Given the description of an element on the screen output the (x, y) to click on. 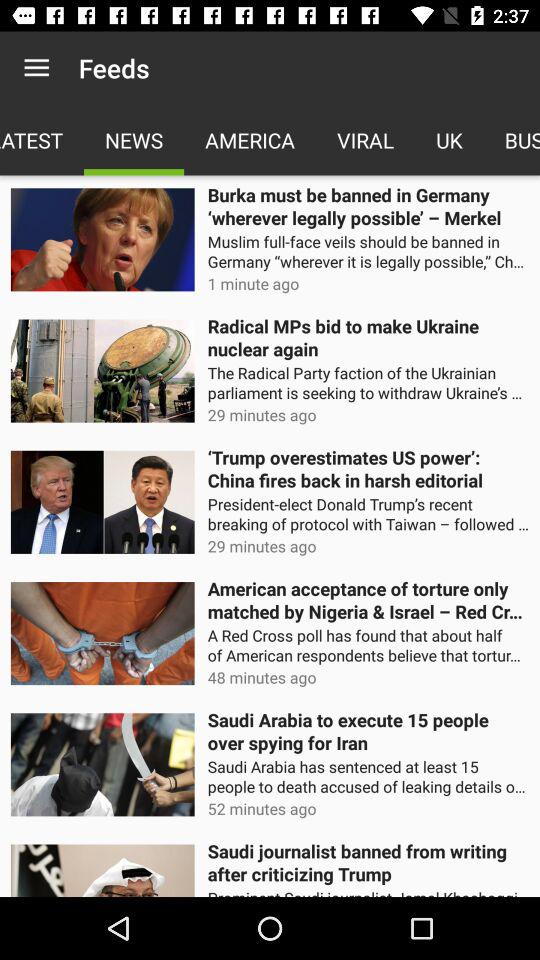
select the app above latest item (36, 68)
